Given the description of an element on the screen output the (x, y) to click on. 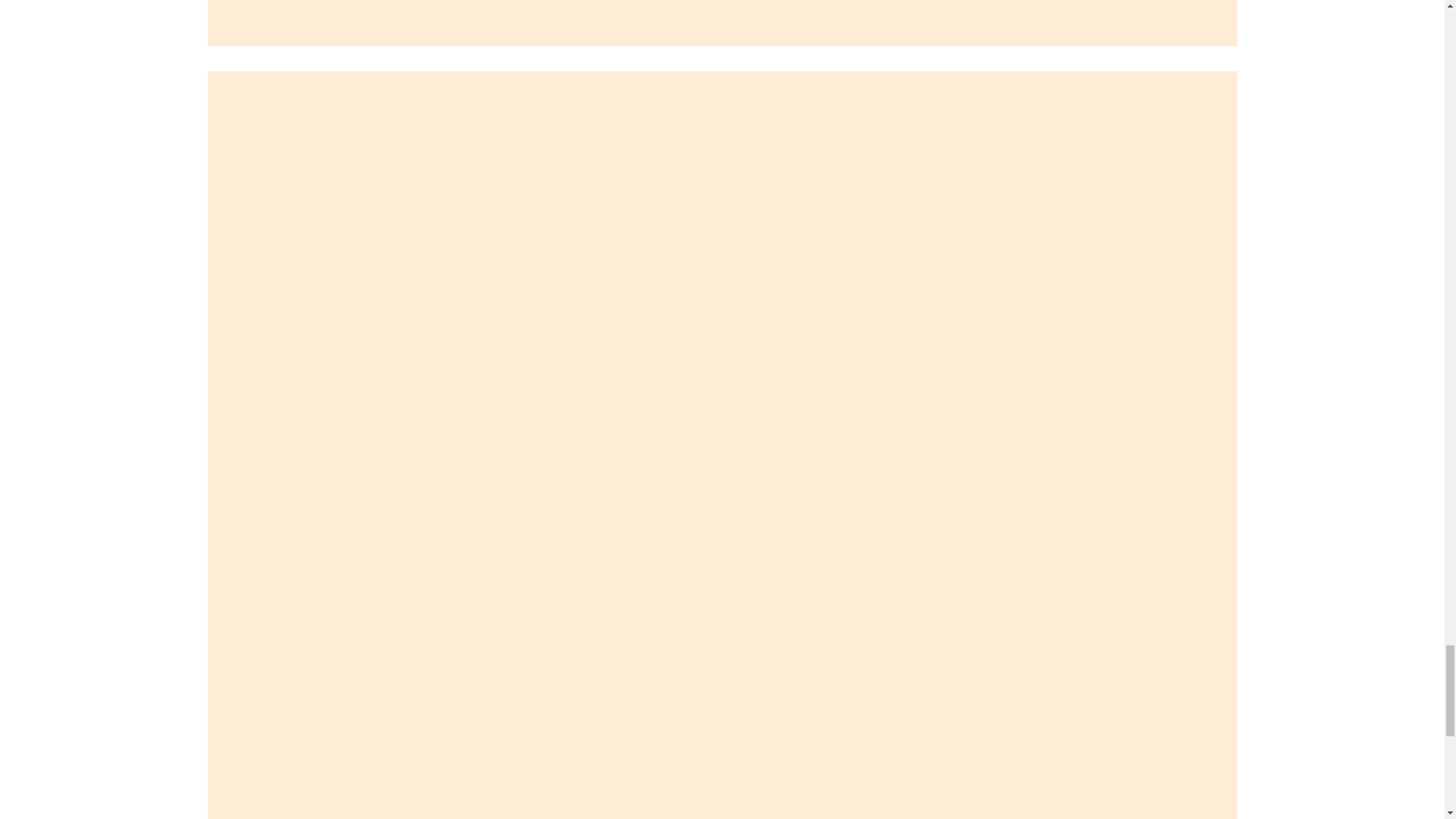
Request (233, 63)
